Given the description of an element on the screen output the (x, y) to click on. 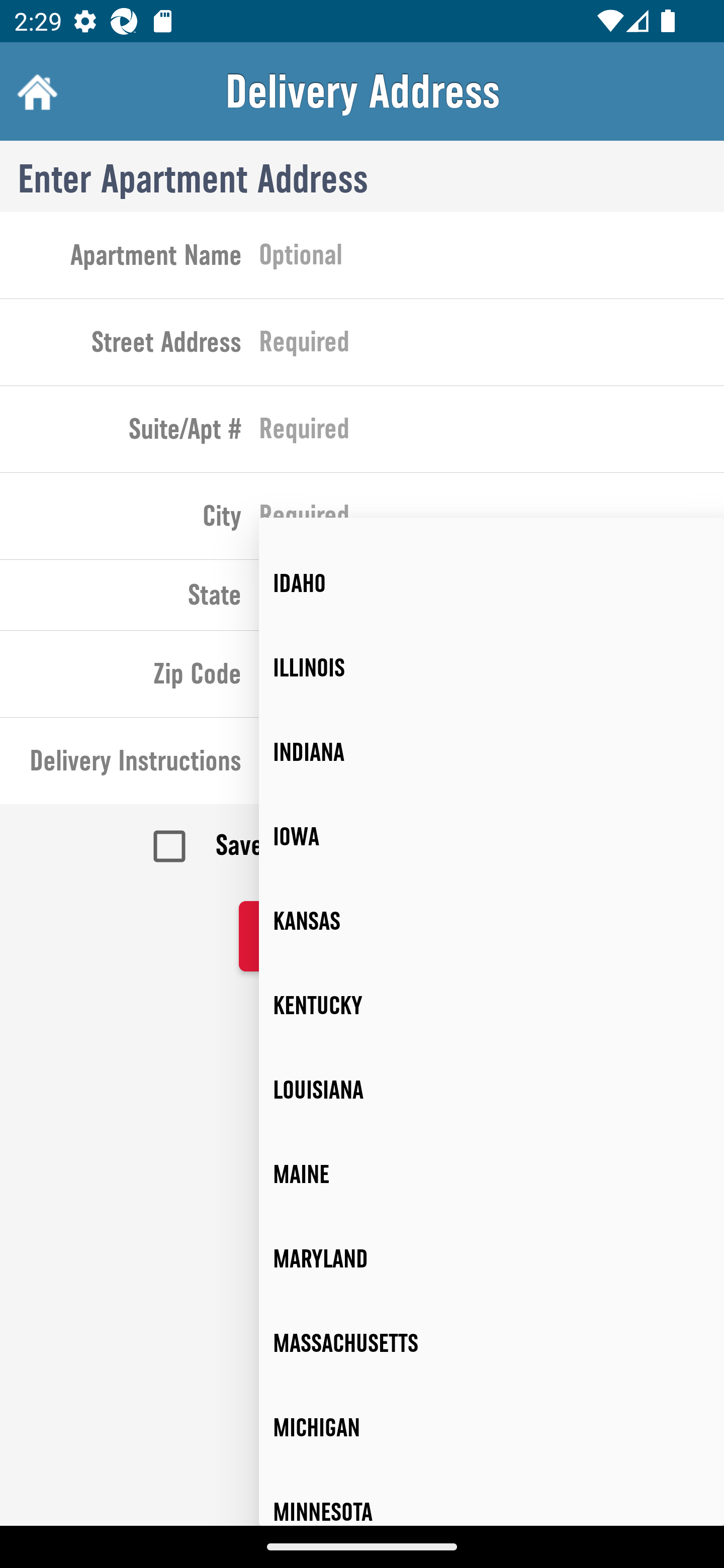
IDAHO (491, 582)
ILLINOIS (491, 667)
INDIANA (491, 752)
IOWA (491, 836)
KANSAS (491, 920)
KENTUCKY (491, 1004)
LOUISIANA (491, 1089)
MAINE (491, 1174)
MARYLAND (491, 1258)
MASSACHUSETTS (491, 1343)
MICHIGAN (491, 1428)
MINNESOTA (491, 1497)
